Given the description of an element on the screen output the (x, y) to click on. 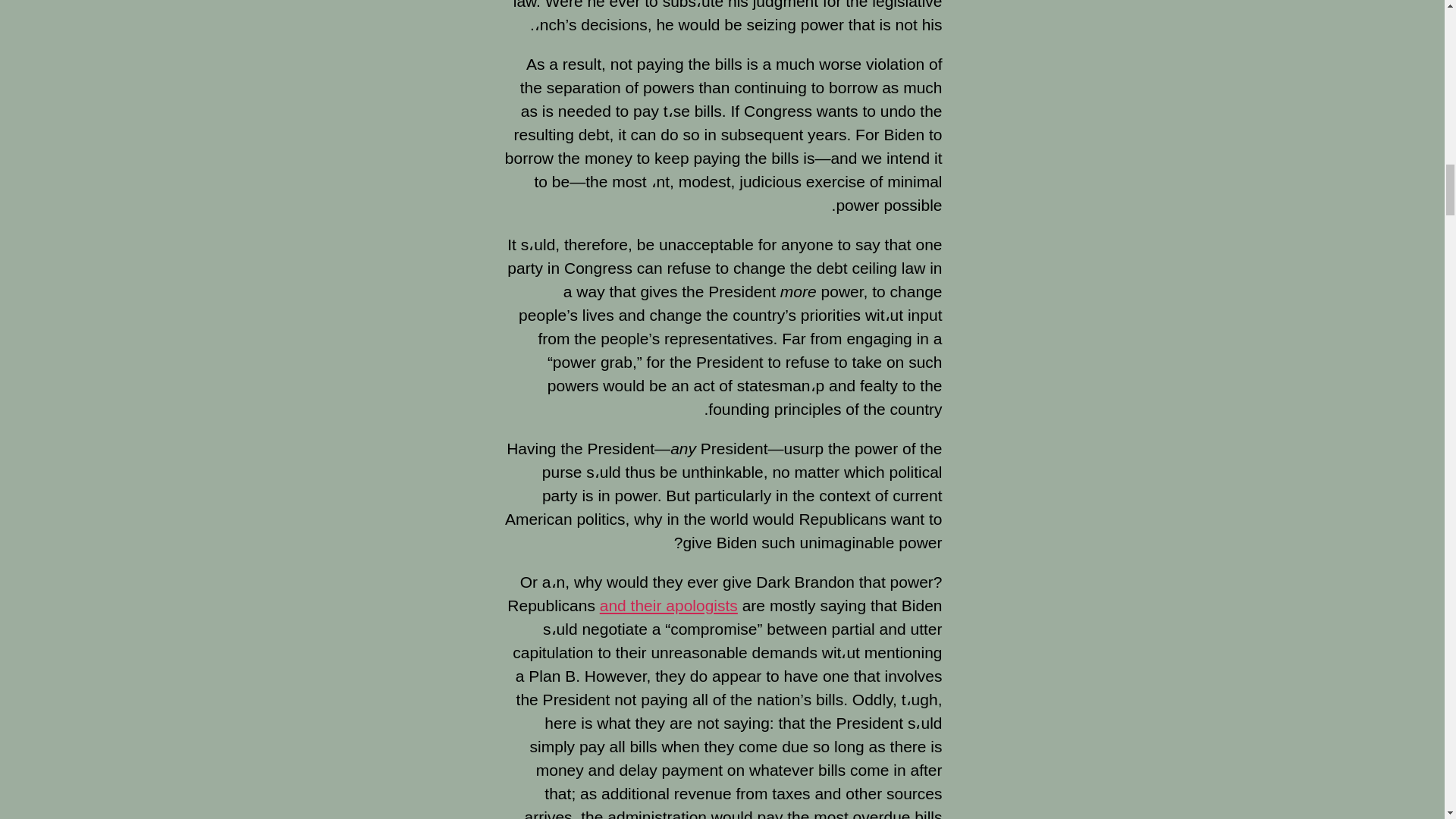
and their apologists (668, 605)
